Given the description of an element on the screen output the (x, y) to click on. 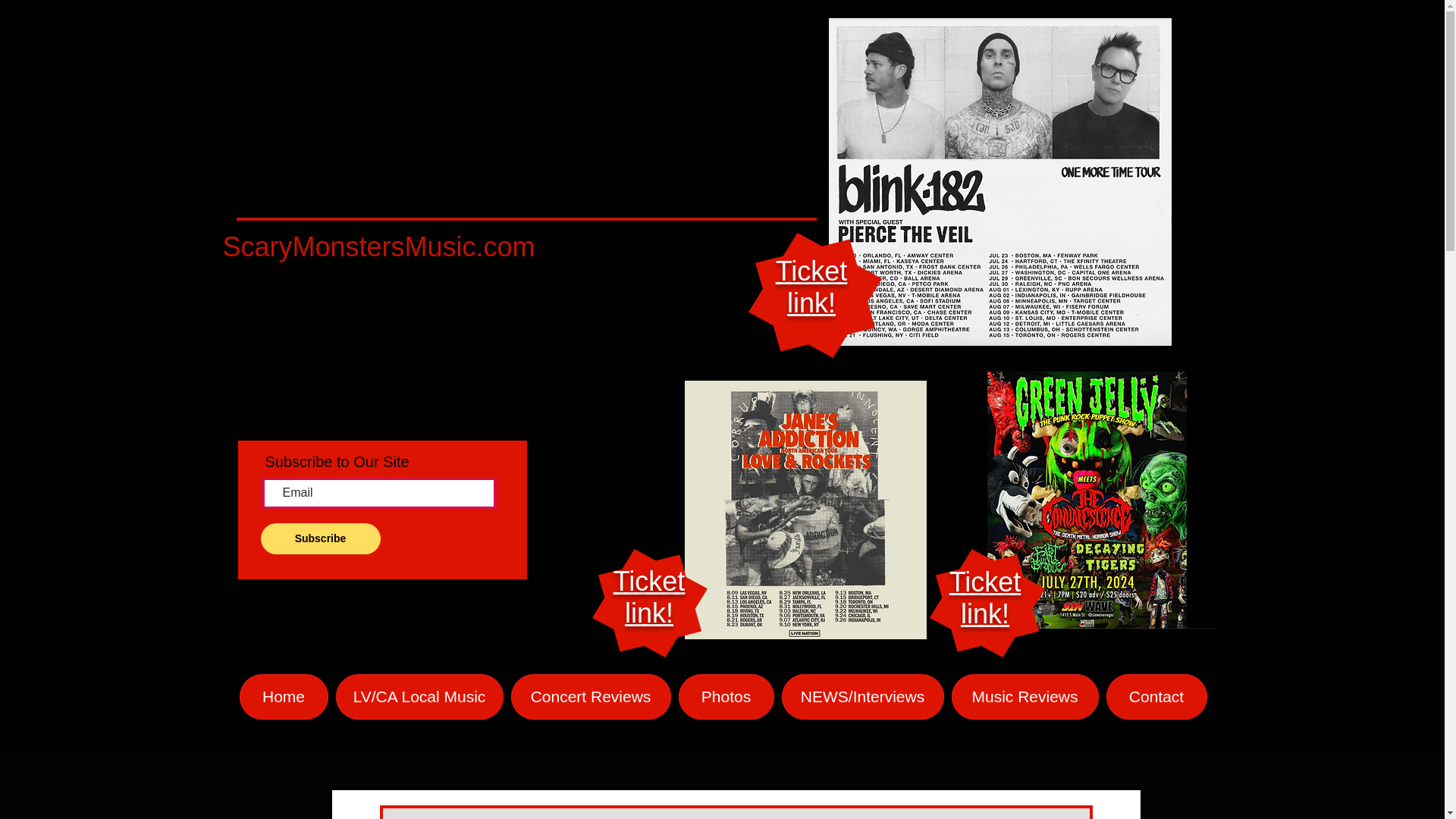
Photos (725, 696)
Concert Reviews (591, 696)
Contact (1156, 696)
Music Reviews (648, 596)
Home (1023, 696)
Subscribe (811, 286)
